Given the description of an element on the screen output the (x, y) to click on. 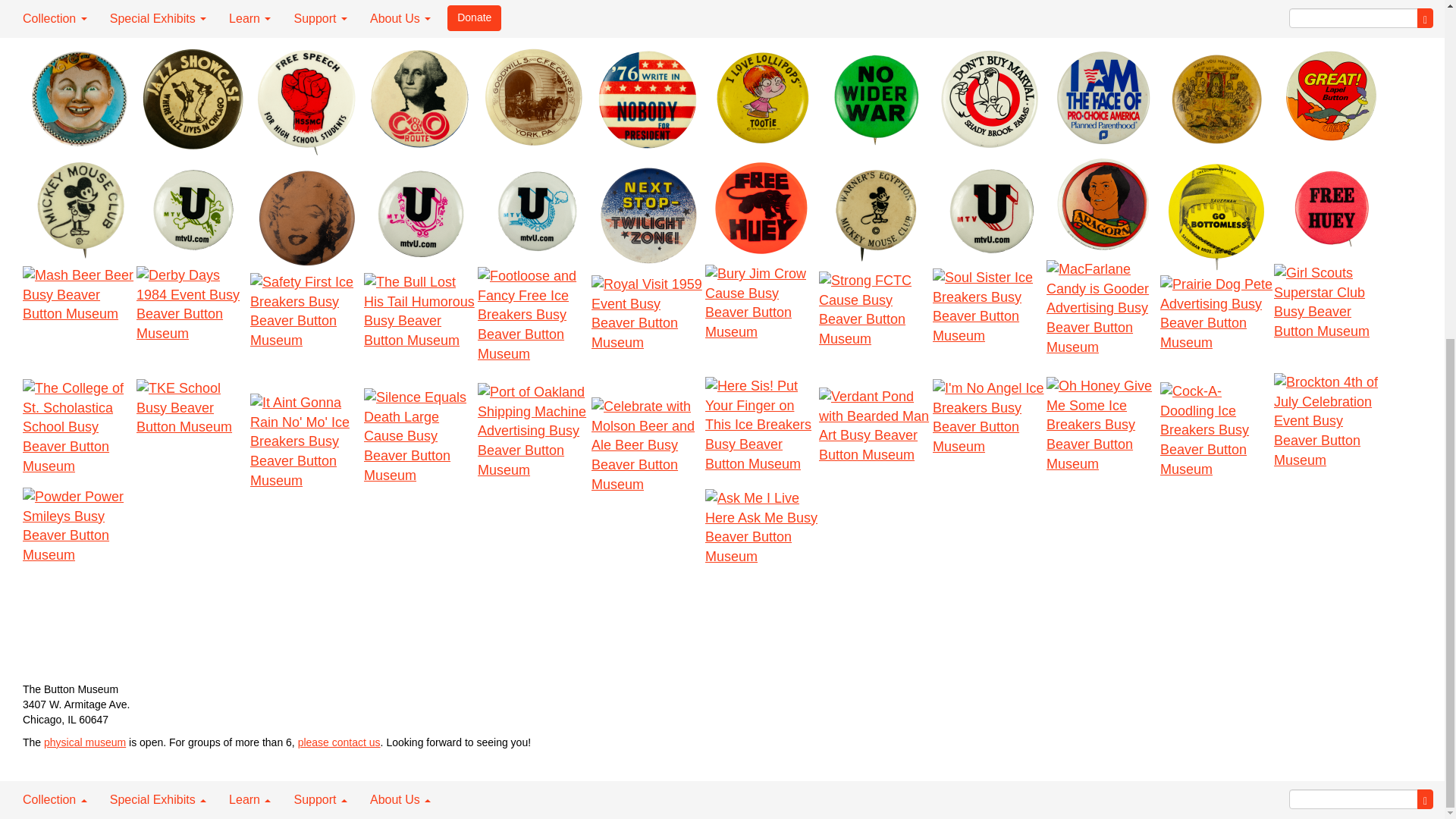
Dominion Regalia (1217, 98)
Don't Buy Marval (989, 98)
I Love Lollipops Tootie (761, 97)
No Wider War (875, 98)
Jazz Showcase Chicago (193, 98)
Free Speech for High School Students (307, 102)
Great Lapel Button (1330, 96)
I am the Face of Pro-Choice America (1103, 96)
Aragorn (1103, 205)
Mickey Mouse Club (79, 209)
Free Huey (1330, 206)
Carol Bouman Lyle (79, 97)
Goodwill Fire Engine Company No. 5 (534, 98)
Free Huey Panther (761, 208)
76 Nobody for President (647, 99)
